Given the description of an element on the screen output the (x, y) to click on. 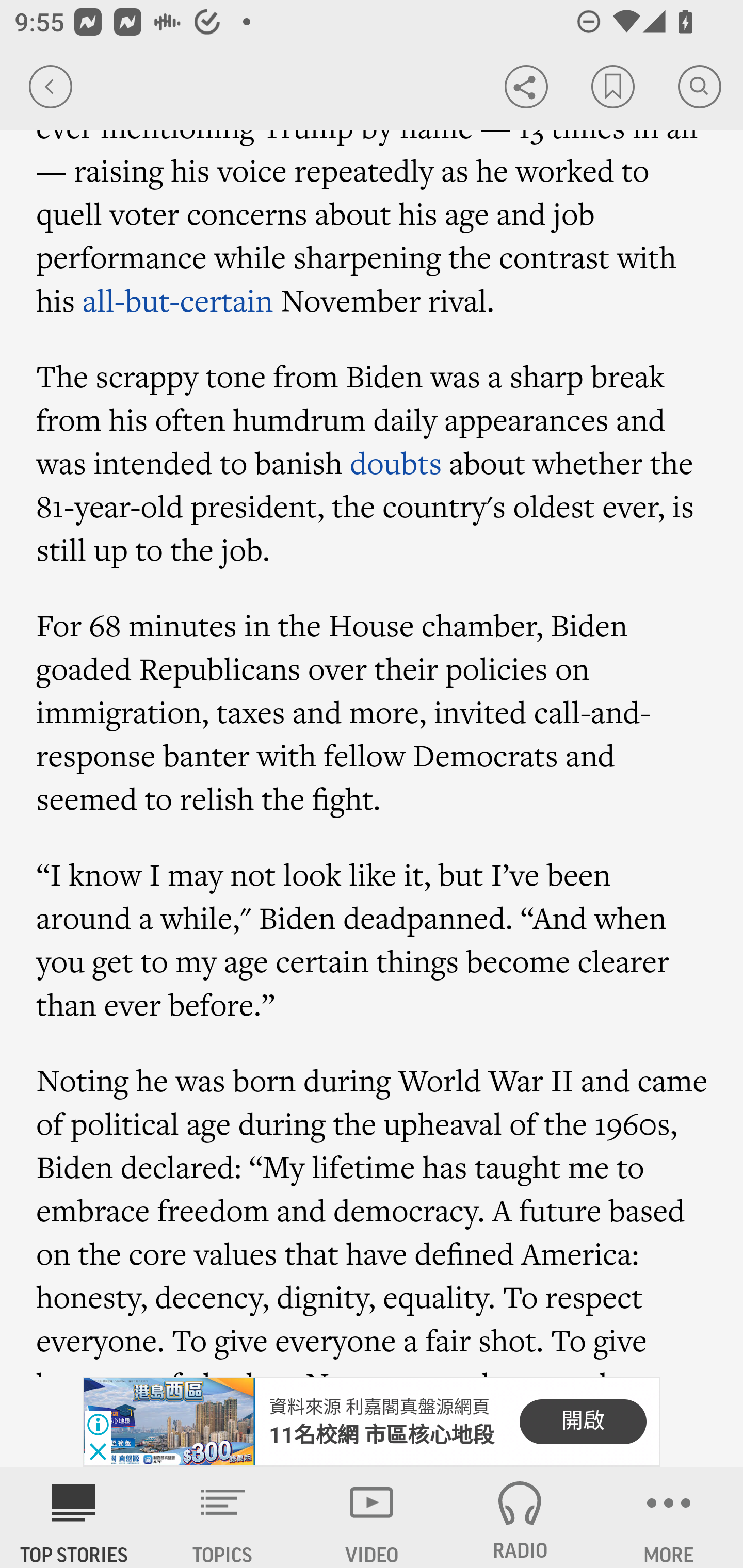
all-but-certain (177, 300)
doubts (395, 462)
B29957867 (168, 1421)
資料來源 利嘉閣真盤源網頁 (379, 1407)
開啟 (582, 1421)
11名校網 市區核心地段 (381, 1435)
AP News TOP STORIES (74, 1517)
TOPICS (222, 1517)
VIDEO (371, 1517)
RADIO (519, 1517)
MORE (668, 1517)
